Given the description of an element on the screen output the (x, y) to click on. 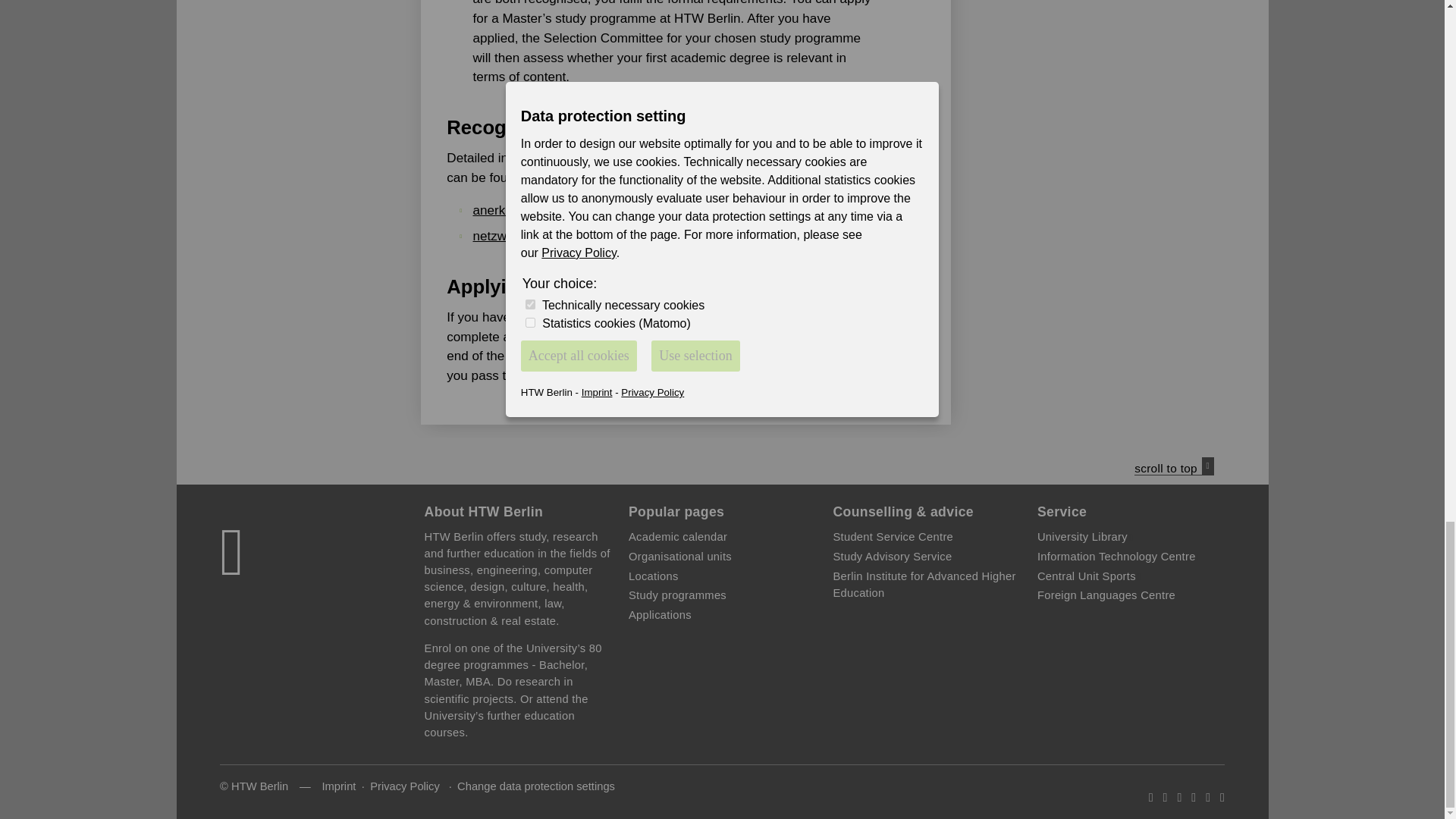
Opens external link in new window (567, 210)
Opens internal link in current window (892, 556)
Opens internal link in current window (659, 614)
Opens internal link in current window (547, 355)
Opens internal link in current window (677, 594)
Opens internal link in current window (653, 576)
Opens external link in new window (520, 236)
Opens internal link in current window (680, 556)
Opens internal link in current window (892, 536)
Opens internal link in current window (677, 536)
